Given the description of an element on the screen output the (x, y) to click on. 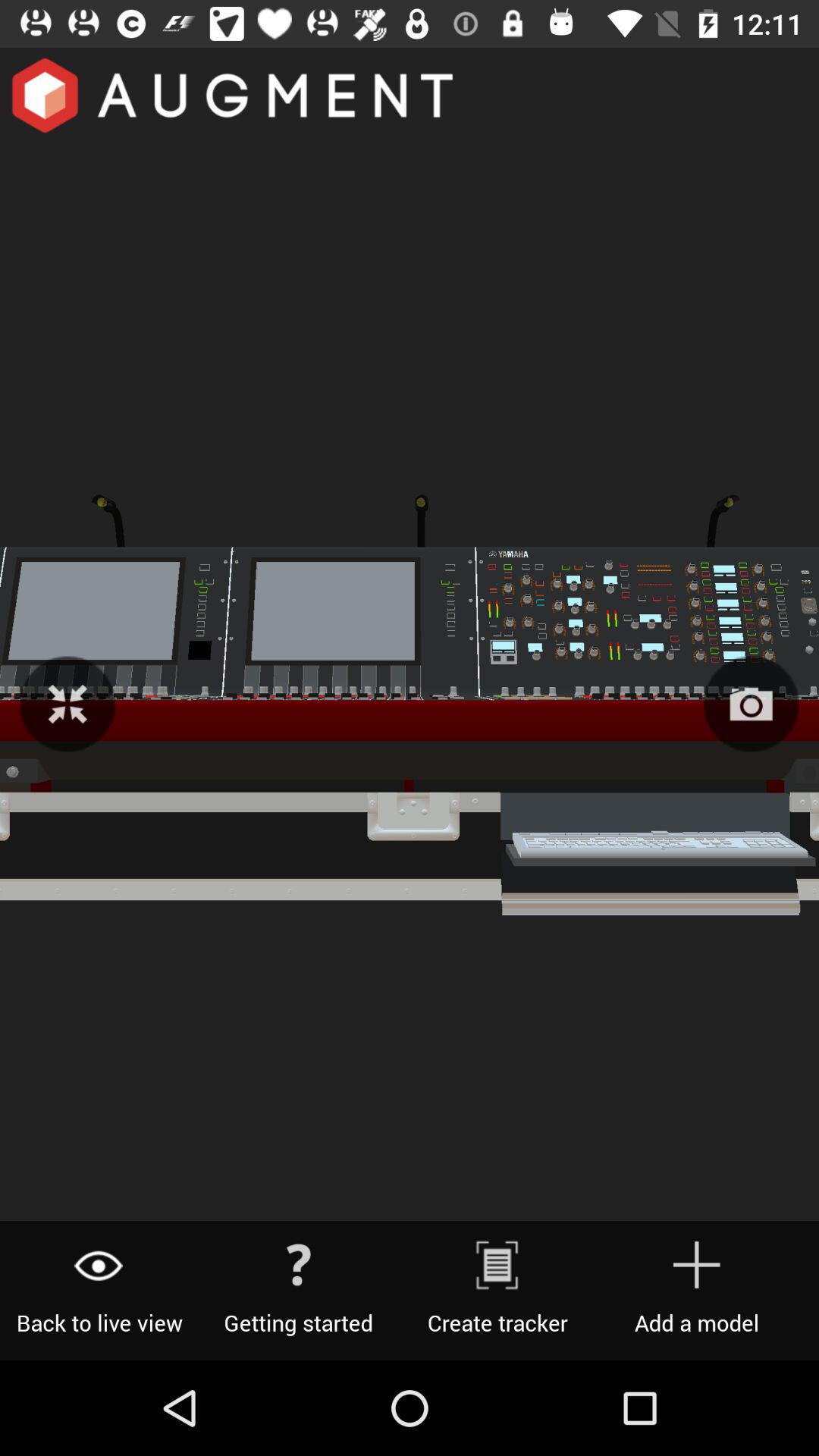
camera option (751, 703)
